Given the description of an element on the screen output the (x, y) to click on. 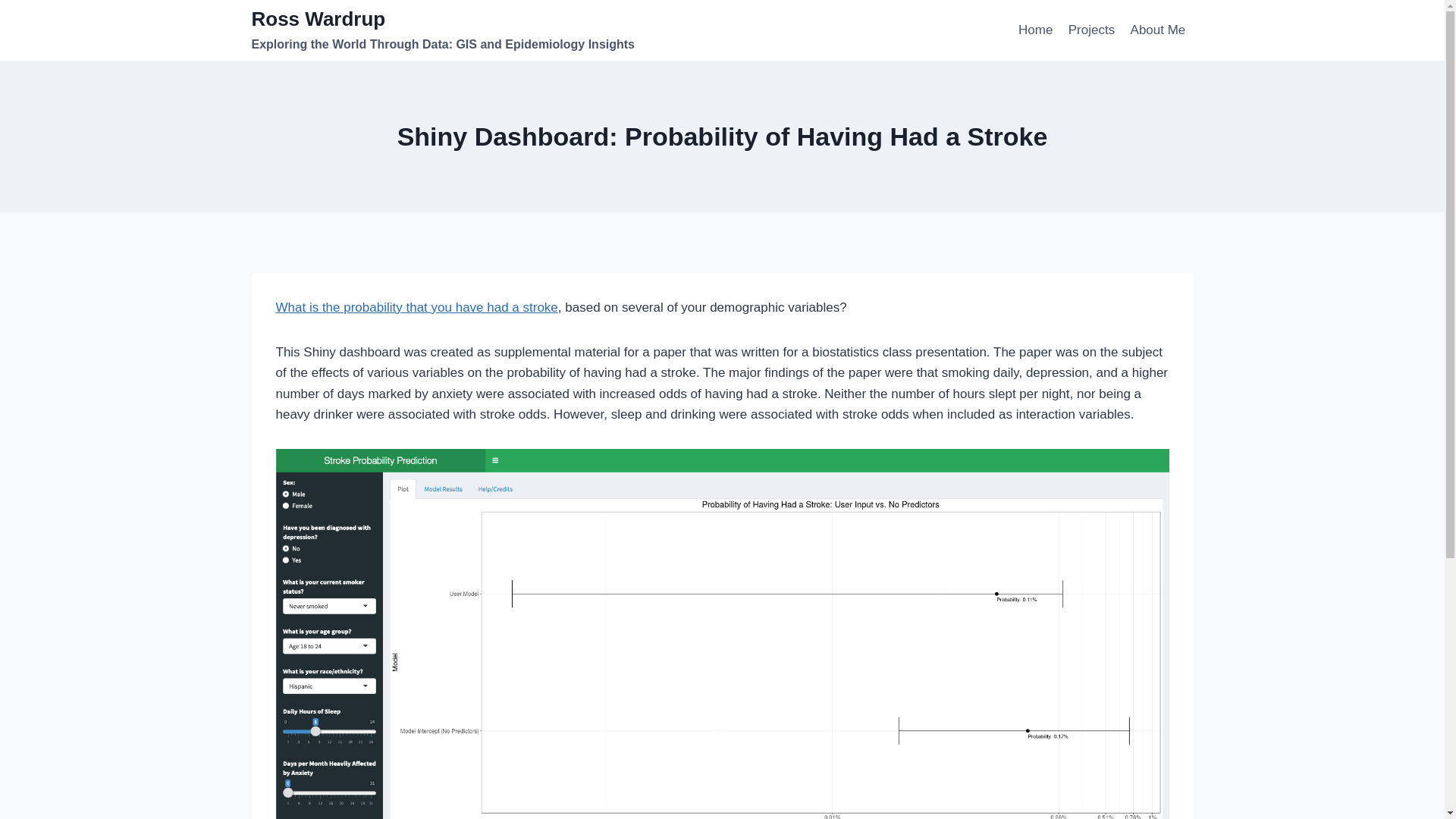
Projects (1091, 30)
What is the probability that you have had a stroke (416, 307)
About Me (1157, 30)
Home (1035, 30)
